Given the description of an element on the screen output the (x, y) to click on. 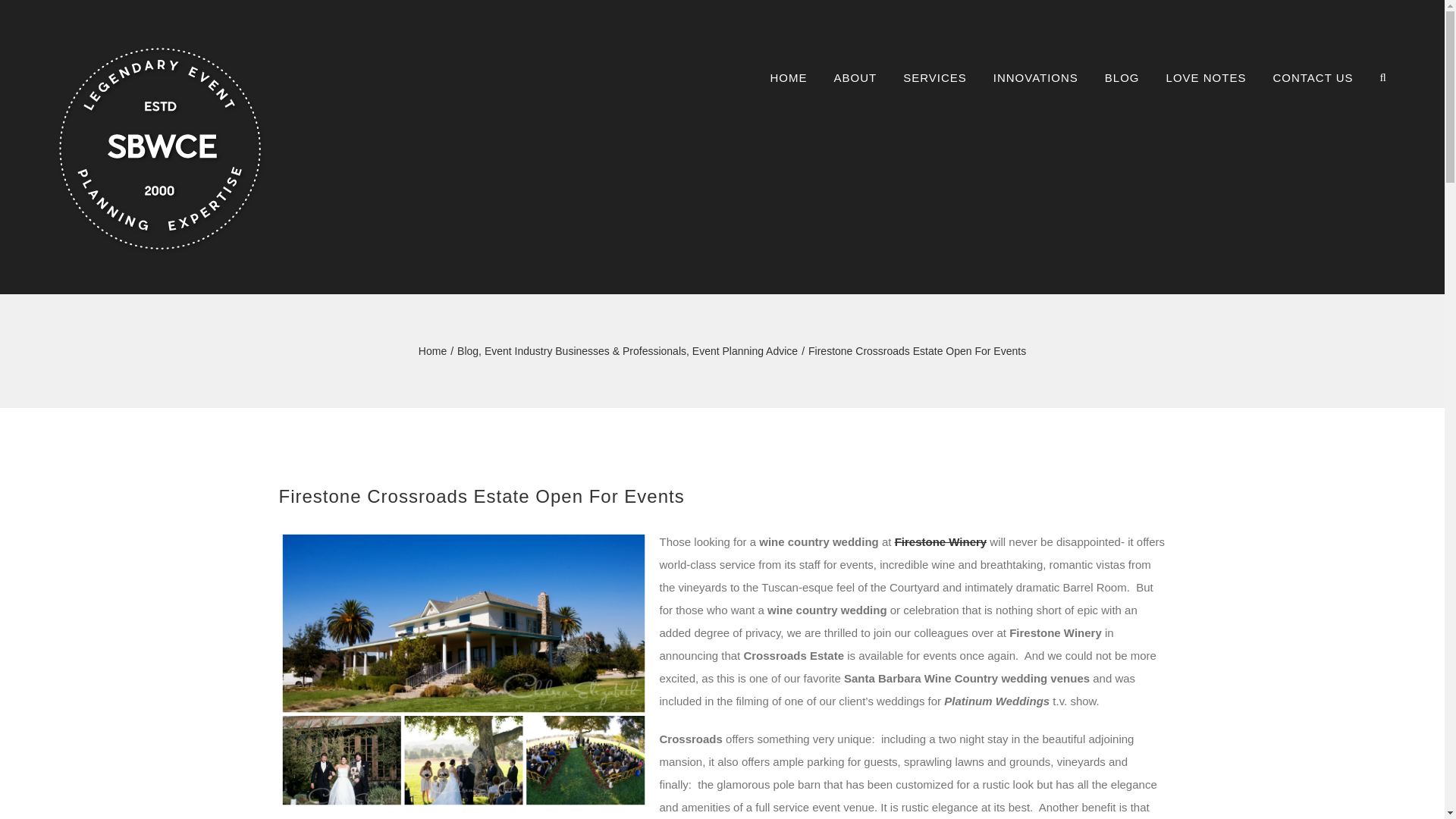
CONTACT US (1312, 77)
LOVE NOTES (1206, 77)
Home (432, 350)
INNOVATIONS (1035, 77)
Blog (468, 350)
